Given the description of an element on the screen output the (x, y) to click on. 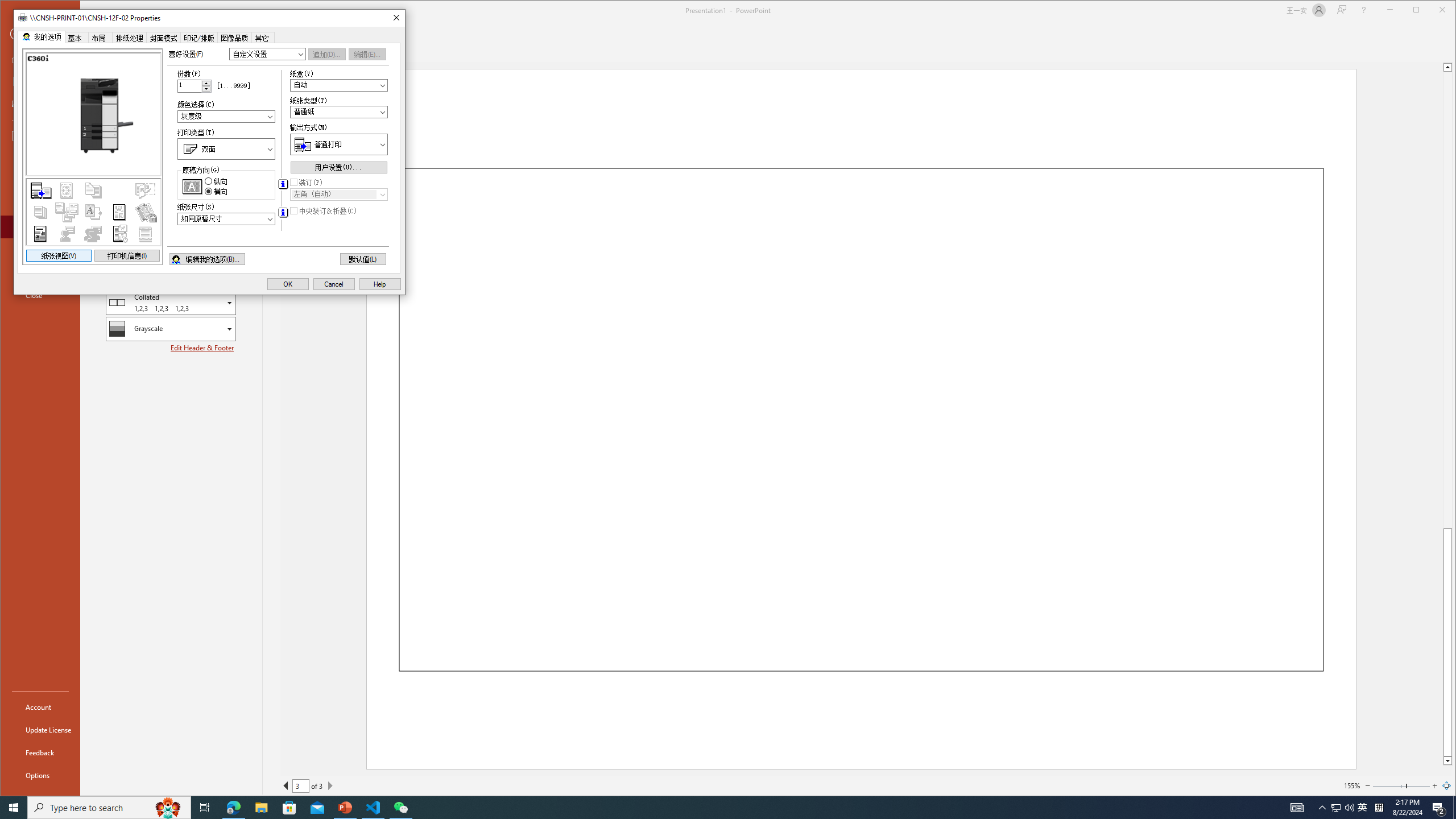
Page left (1389, 785)
AutomationID: 1040 (226, 218)
OK (287, 283)
